Given the description of an element on the screen output the (x, y) to click on. 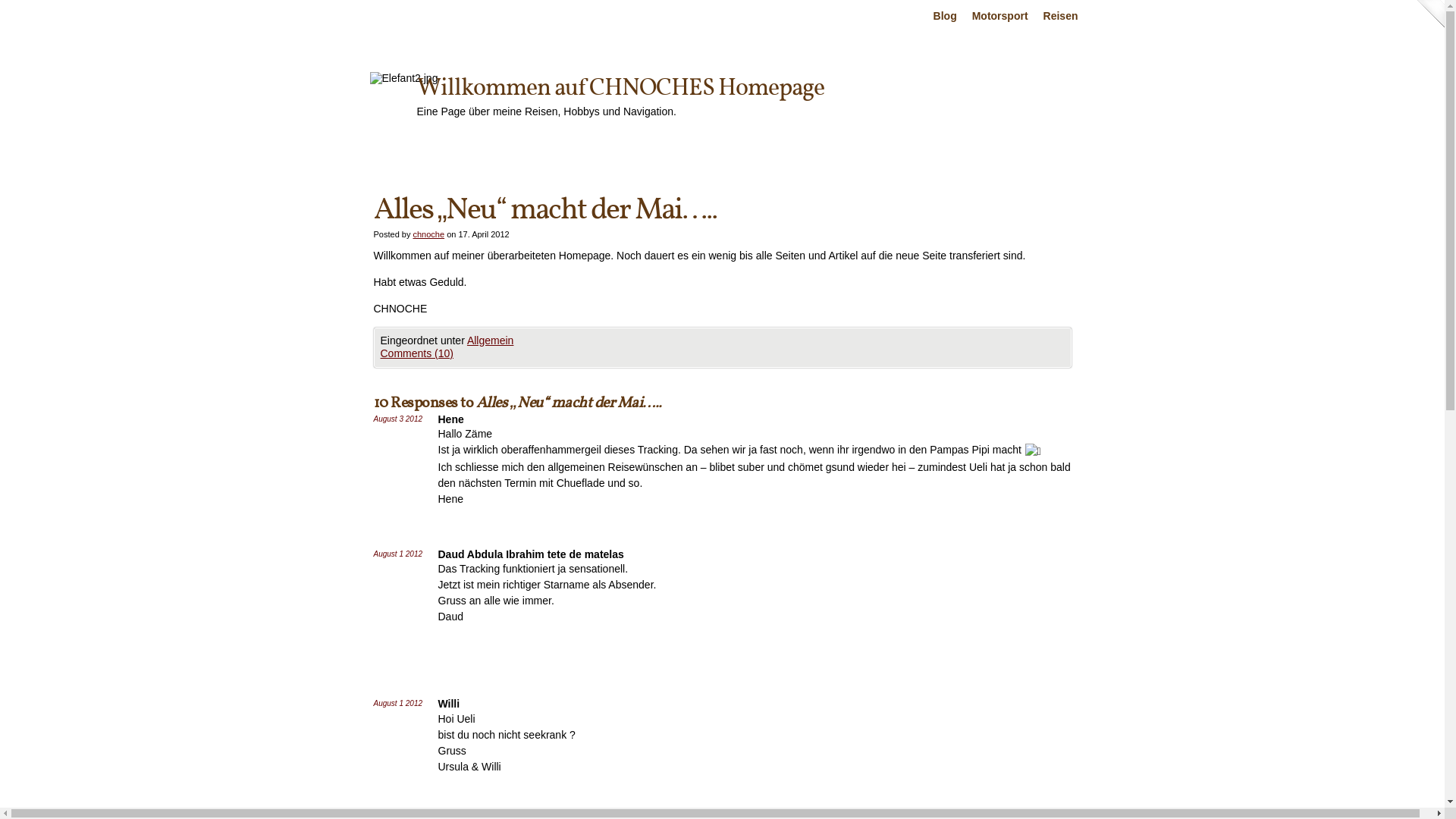
Elefant2.jpg Element type: hover (404, 78)
Blog Element type: text (944, 16)
August 3 2012 Element type: text (397, 418)
Reisen Element type: text (1060, 16)
August 1 2012 Element type: text (397, 553)
chnoche Element type: text (428, 233)
Allgemein Element type: text (490, 340)
Willkommen auf CHNOCHES Homepage Element type: text (620, 88)
August 1 2012 Element type: text (397, 703)
Comments (10) Element type: text (416, 353)
Motorsport Element type: text (999, 16)
